Given the description of an element on the screen output the (x, y) to click on. 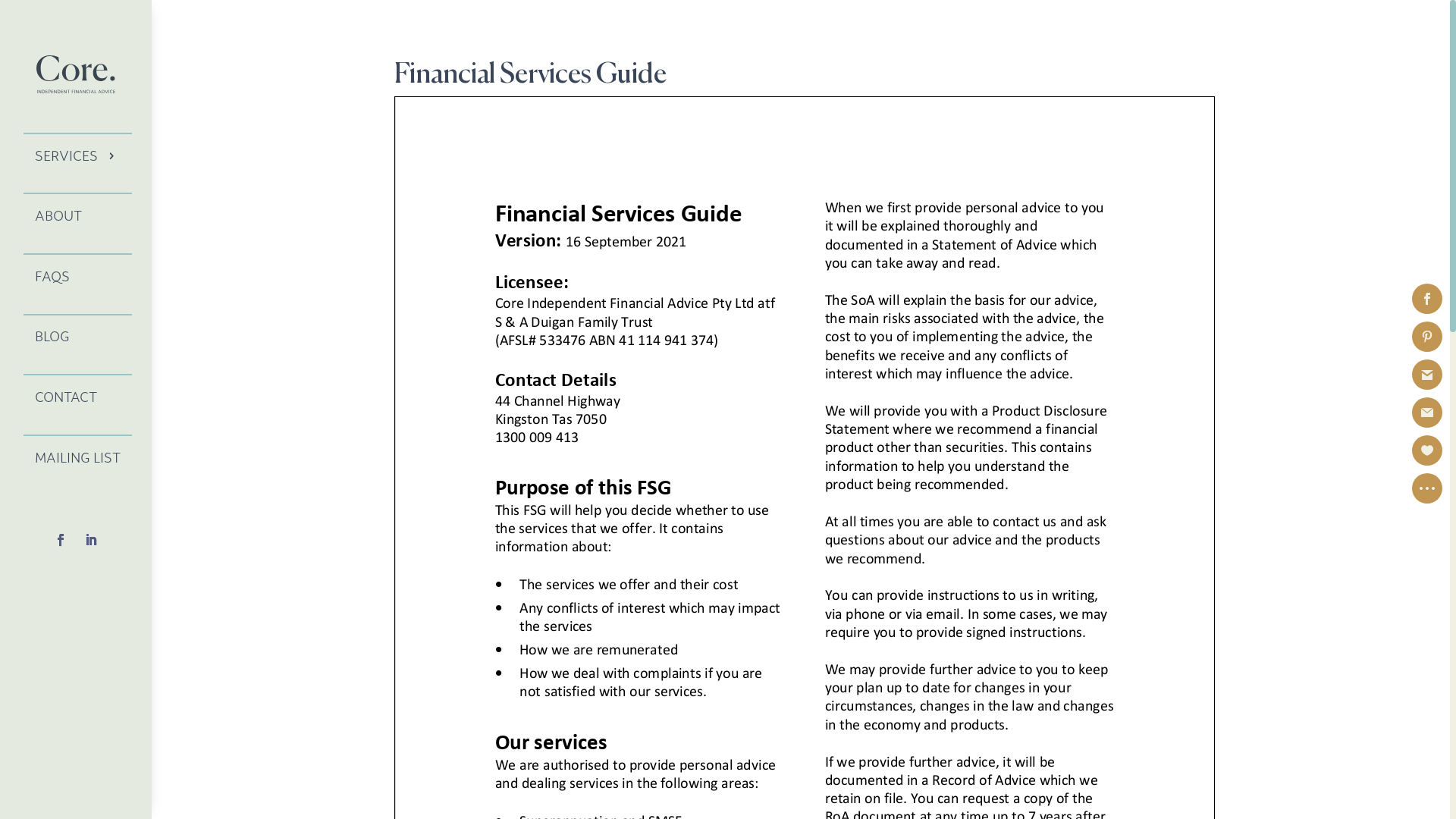
MAILING LIST Element type: text (77, 457)
FAQS Element type: text (77, 275)
CONTACT Element type: text (77, 396)
SERVICES Element type: text (77, 155)
ABOUT Element type: text (77, 215)
Follow on LinkedIn Element type: hover (90, 539)
BLOG Element type: text (77, 336)
Follow on Facebook Element type: hover (60, 539)
